Given the description of an element on the screen output the (x, y) to click on. 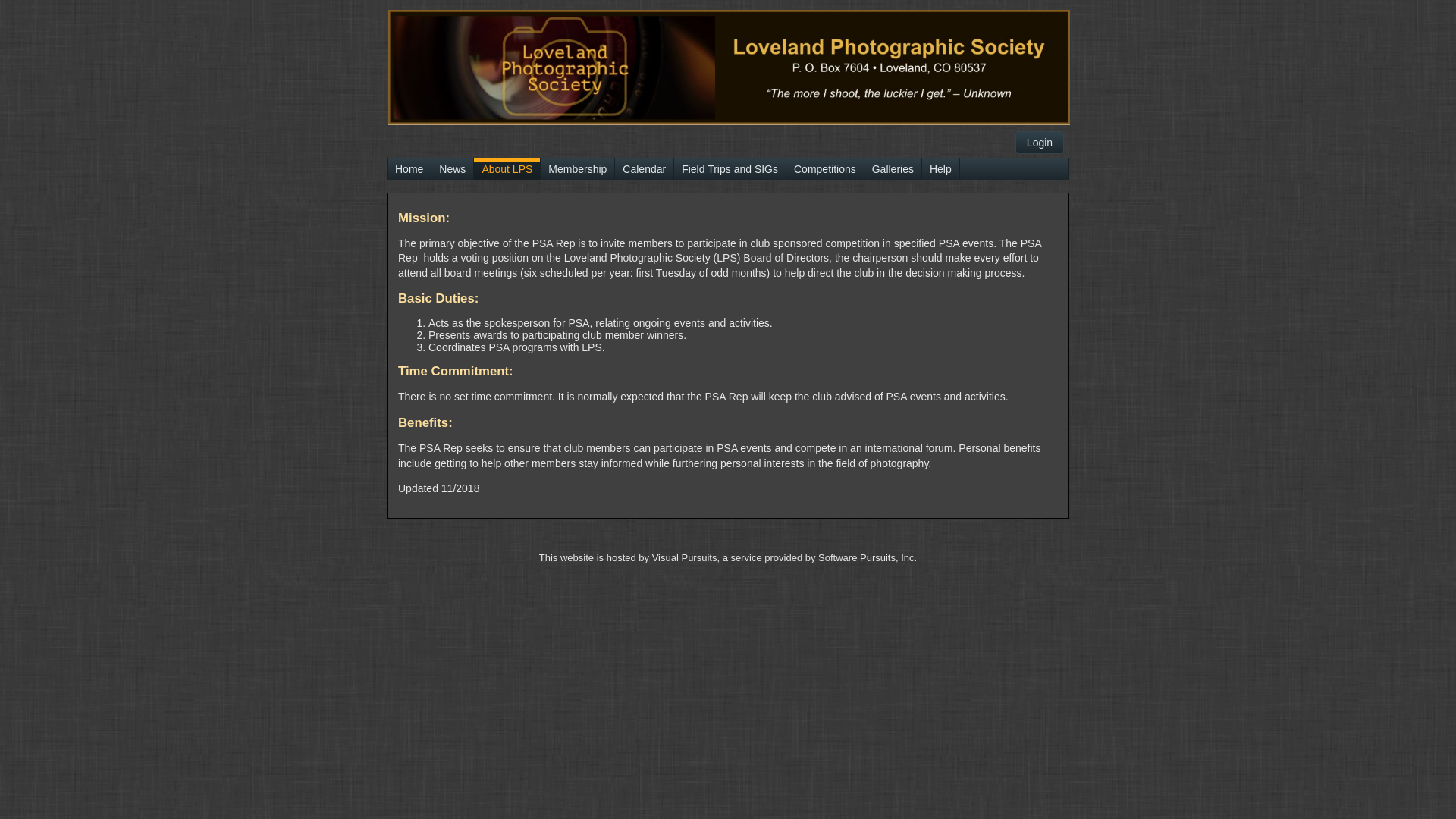
Login Element type: text (1039, 142)
Home Element type: text (408, 168)
Competitions Element type: text (824, 168)
News Element type: text (452, 168)
Calendar Element type: text (644, 168)
Help Element type: text (940, 168)
Visual Pursuits Element type: text (684, 557)
Software Pursuits, Inc. Element type: text (867, 557)
Field Trips and SIGs Element type: text (729, 168)
Galleries Element type: text (892, 168)
About LPS Element type: text (506, 168)
Membership Element type: text (577, 168)
